Given the description of an element on the screen output the (x, y) to click on. 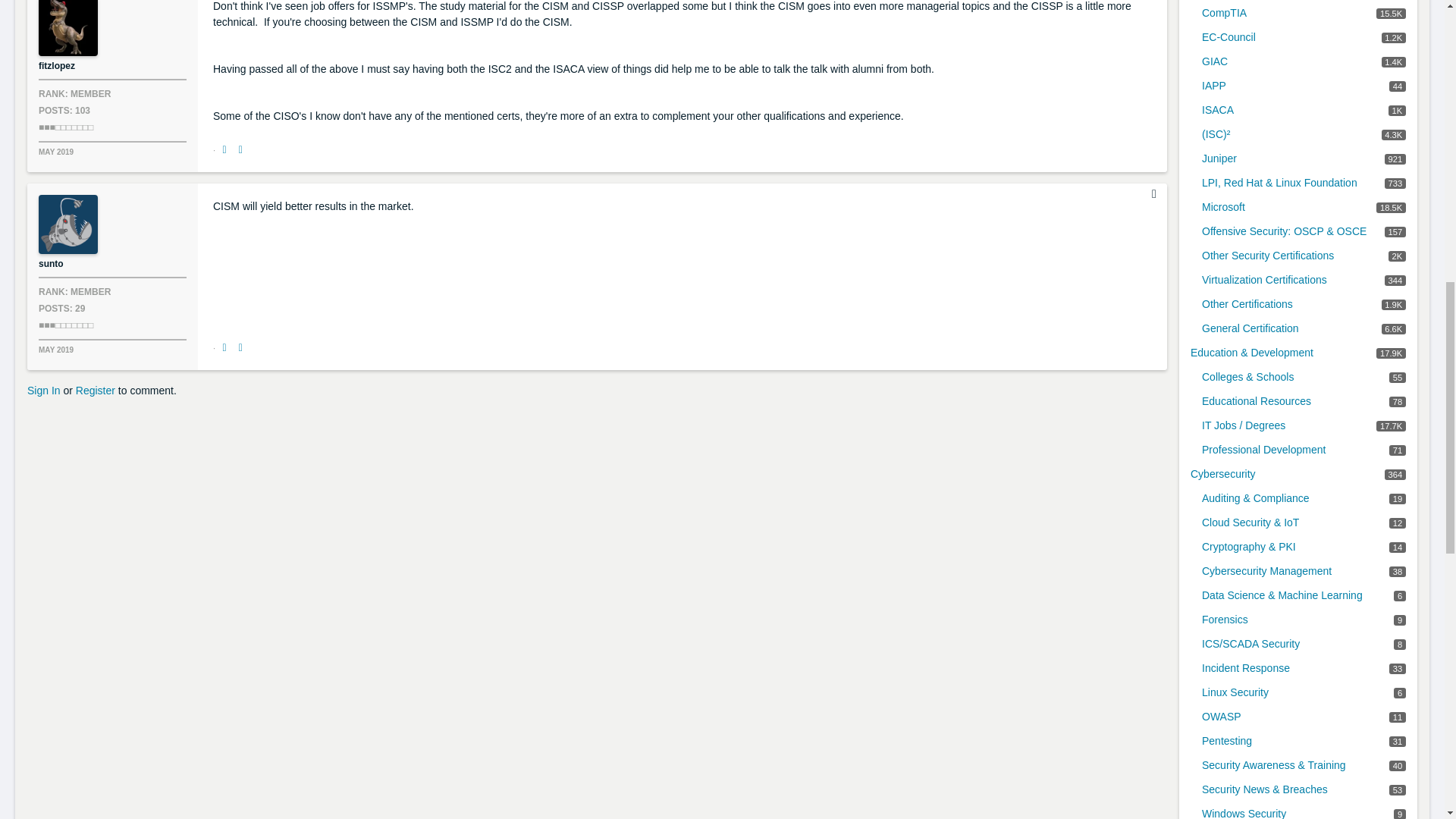
Student (66, 127)
sunto (68, 223)
fitzlopez (68, 28)
May 14, 2019 10:33AM (56, 349)
Student (66, 325)
May 11, 2019 4:51AM (56, 152)
